Given the description of an element on the screen output the (x, y) to click on. 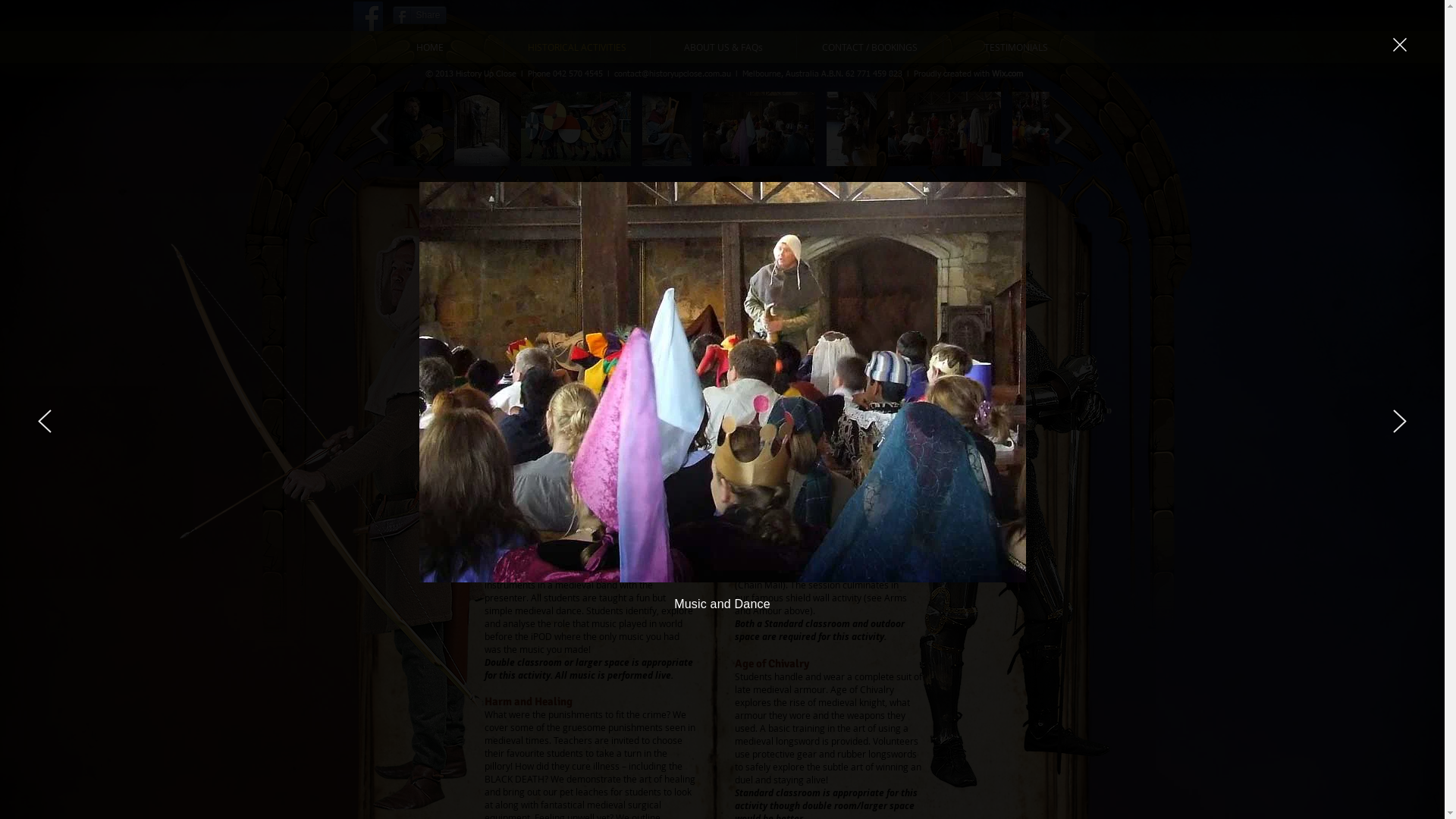
Share Element type: text (419, 15)
ABOUT US & FAQs Element type: text (723, 45)
HISTORICAL ACTIVITIES Element type: text (576, 45)
TESTIMONIALS Element type: text (1015, 45)
HOME Element type: text (429, 45)
CONTACT / BOOKINGS Element type: text (868, 45)
Wix.com Element type: text (1006, 73)
Facebook Like Element type: hover (487, 14)
contact@historyupclose.com.au Element type: text (672, 73)
